Given the description of an element on the screen output the (x, y) to click on. 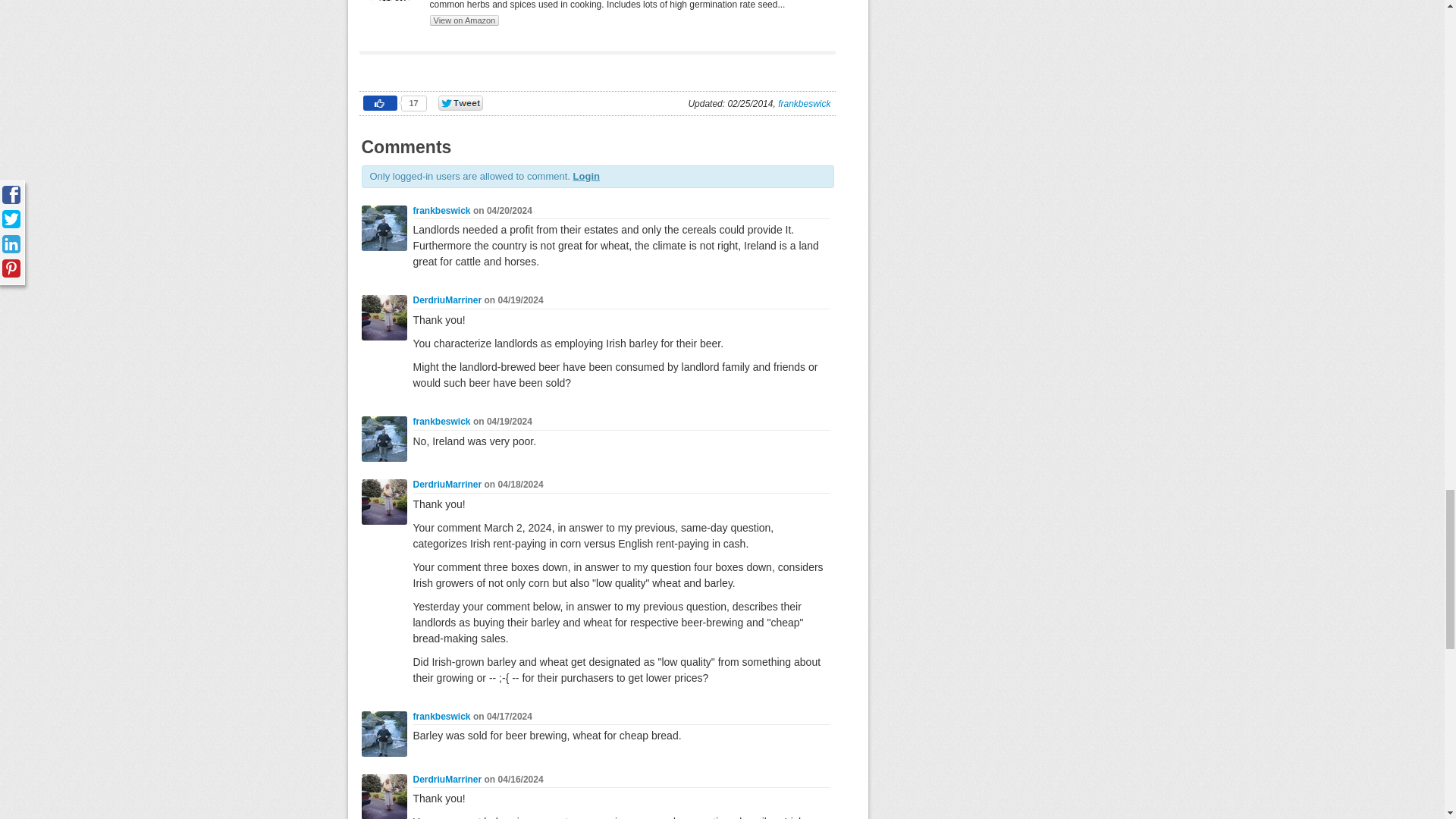
Login (586, 175)
View on Amazon (464, 20)
frankbeswick (803, 103)
